Given the description of an element on the screen output the (x, y) to click on. 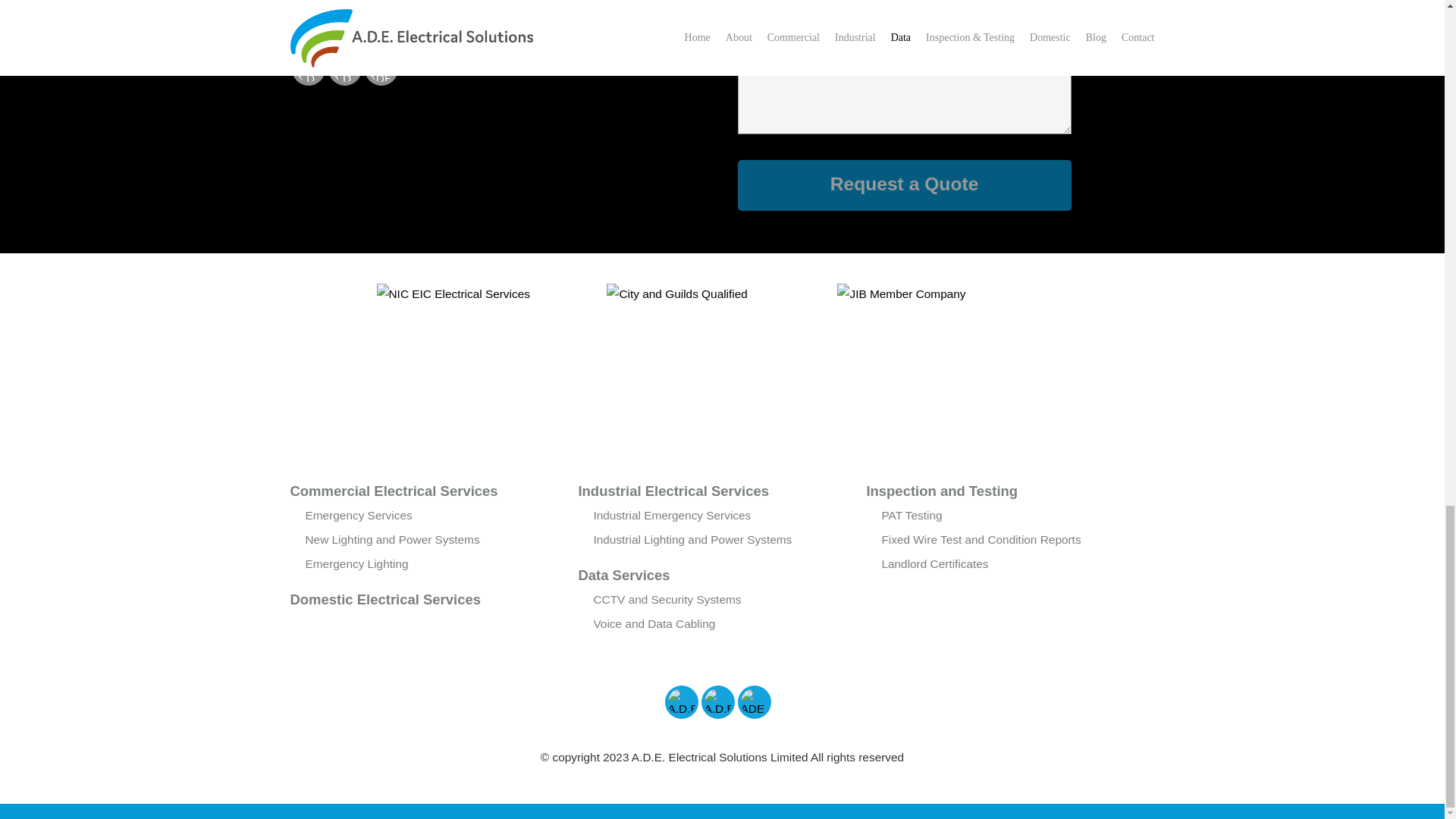
Request a Quote (903, 184)
